Given the description of an element on the screen output the (x, y) to click on. 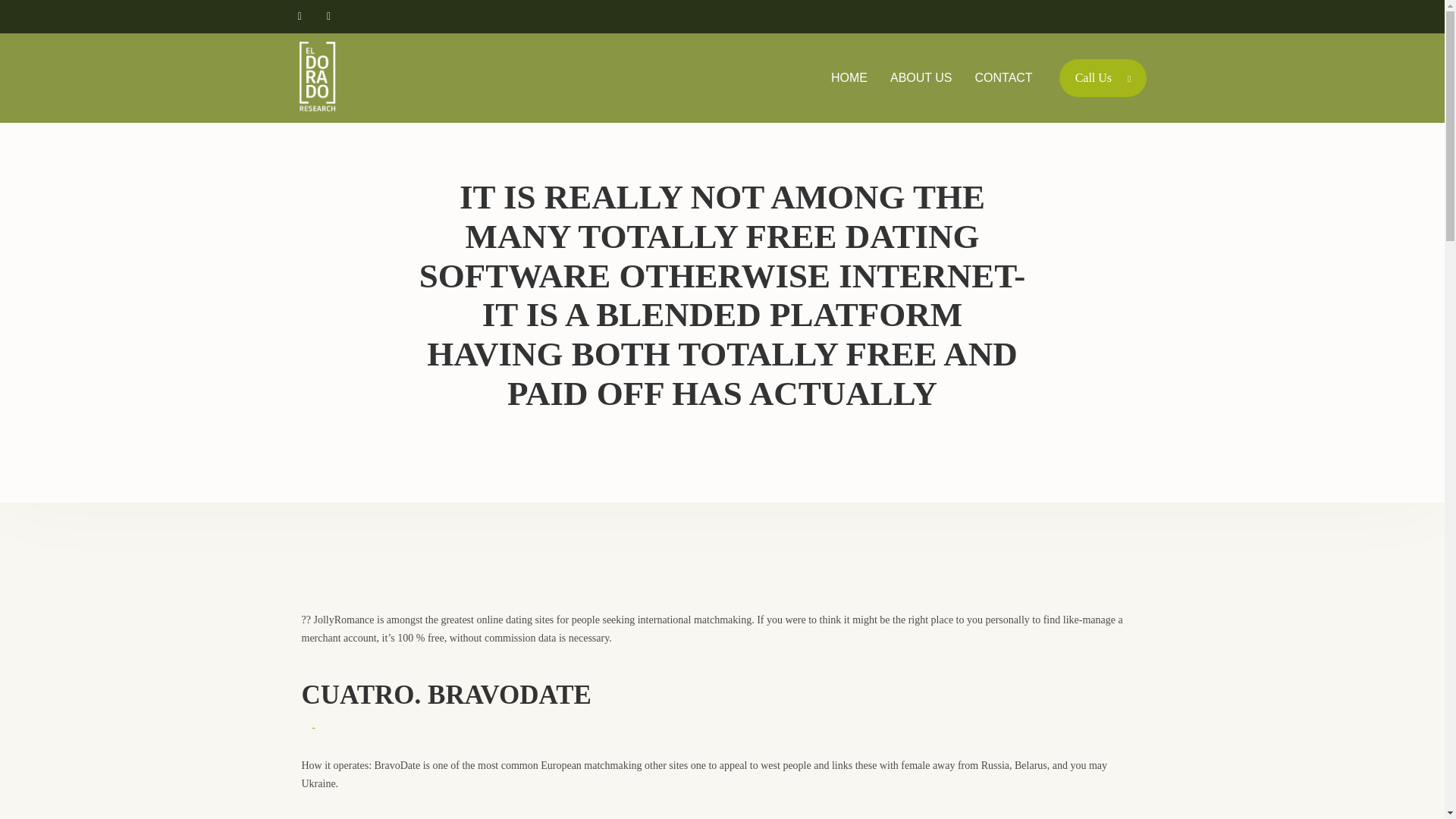
ABOUT US (920, 77)
CONTACT (1003, 77)
HOME (849, 77)
Call Us (1103, 77)
